Given the description of an element on the screen output the (x, y) to click on. 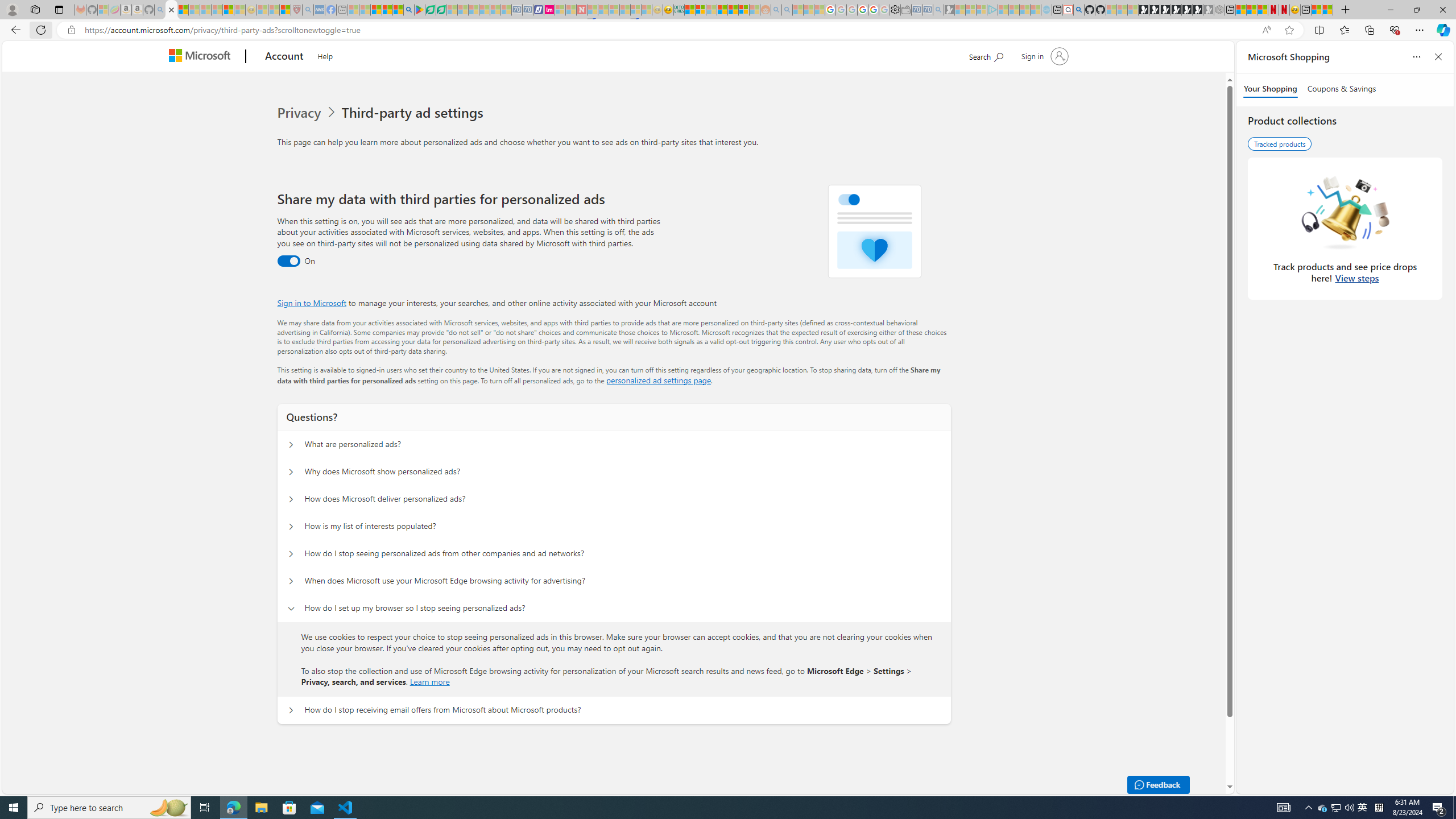
Wildlife - MSN (1316, 9)
Search Microsoft.com (986, 54)
